Given the description of an element on the screen output the (x, y) to click on. 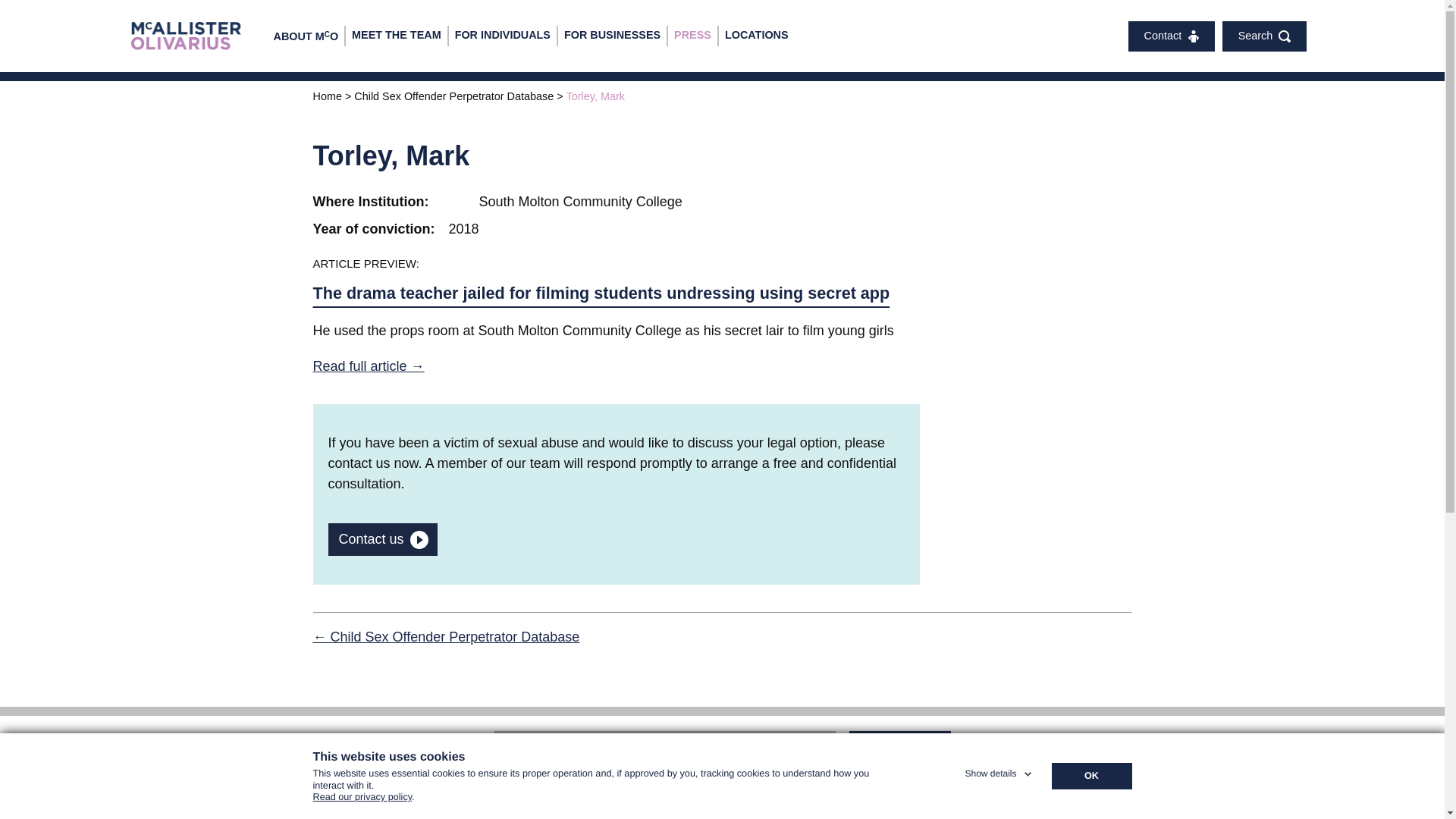
OK (1091, 776)
Show details (998, 770)
Search (899, 746)
Read our privacy policy (362, 802)
